Given the description of an element on the screen output the (x, y) to click on. 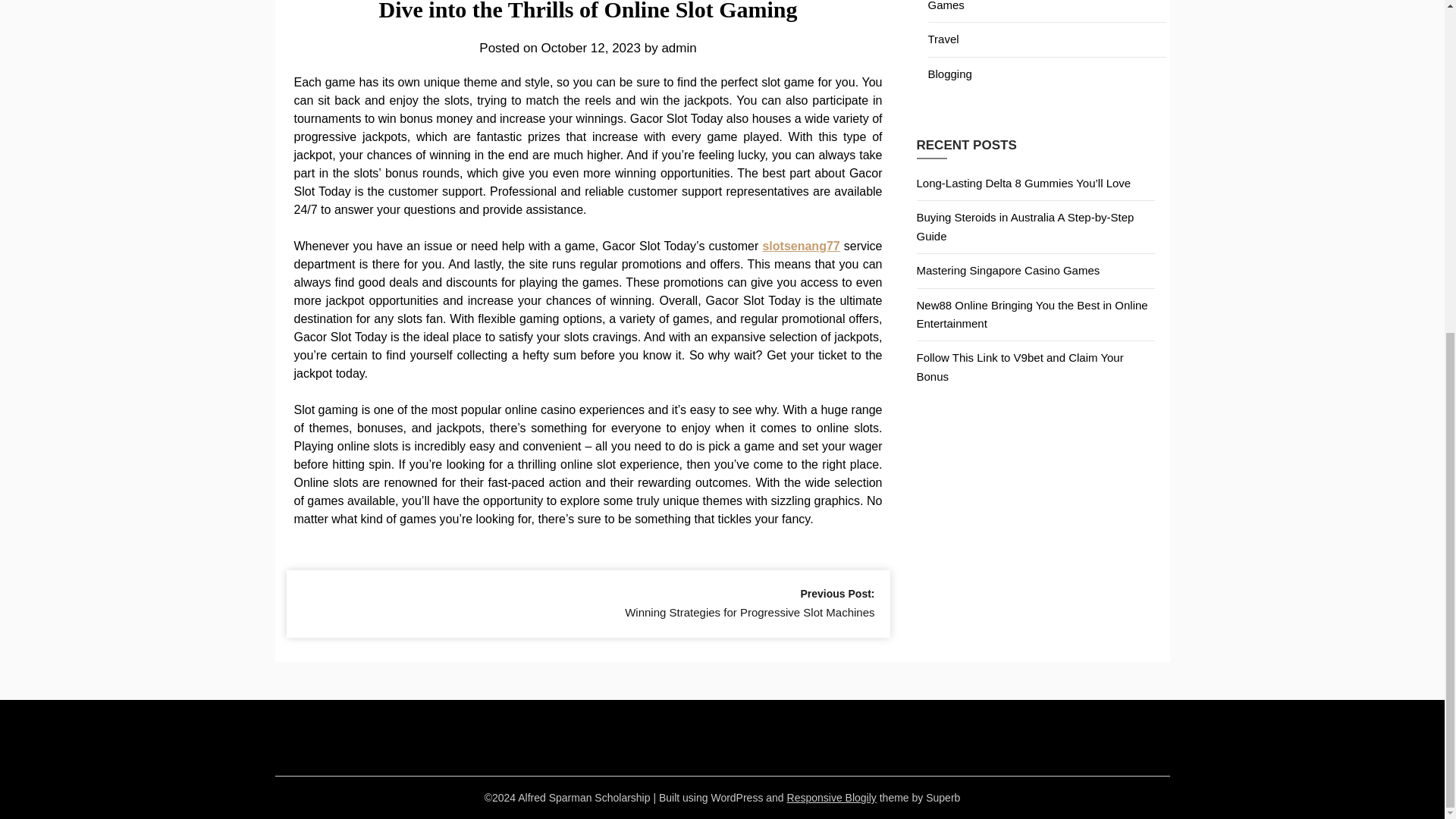
October 12, 2023 (590, 47)
Blogging (950, 73)
Games (945, 5)
Mastering Singapore Casino Games (1007, 269)
Follow This Link to V9bet and Claim Your Bonus (1018, 366)
New88 Online Bringing You the Best in Online Entertainment (1031, 314)
Buying Steroids in Australia A Step-by-Step Guide (1024, 225)
Travel (943, 38)
slotsenang77 (800, 245)
Responsive Blogily (831, 797)
admin (678, 47)
